Given the description of an element on the screen output the (x, y) to click on. 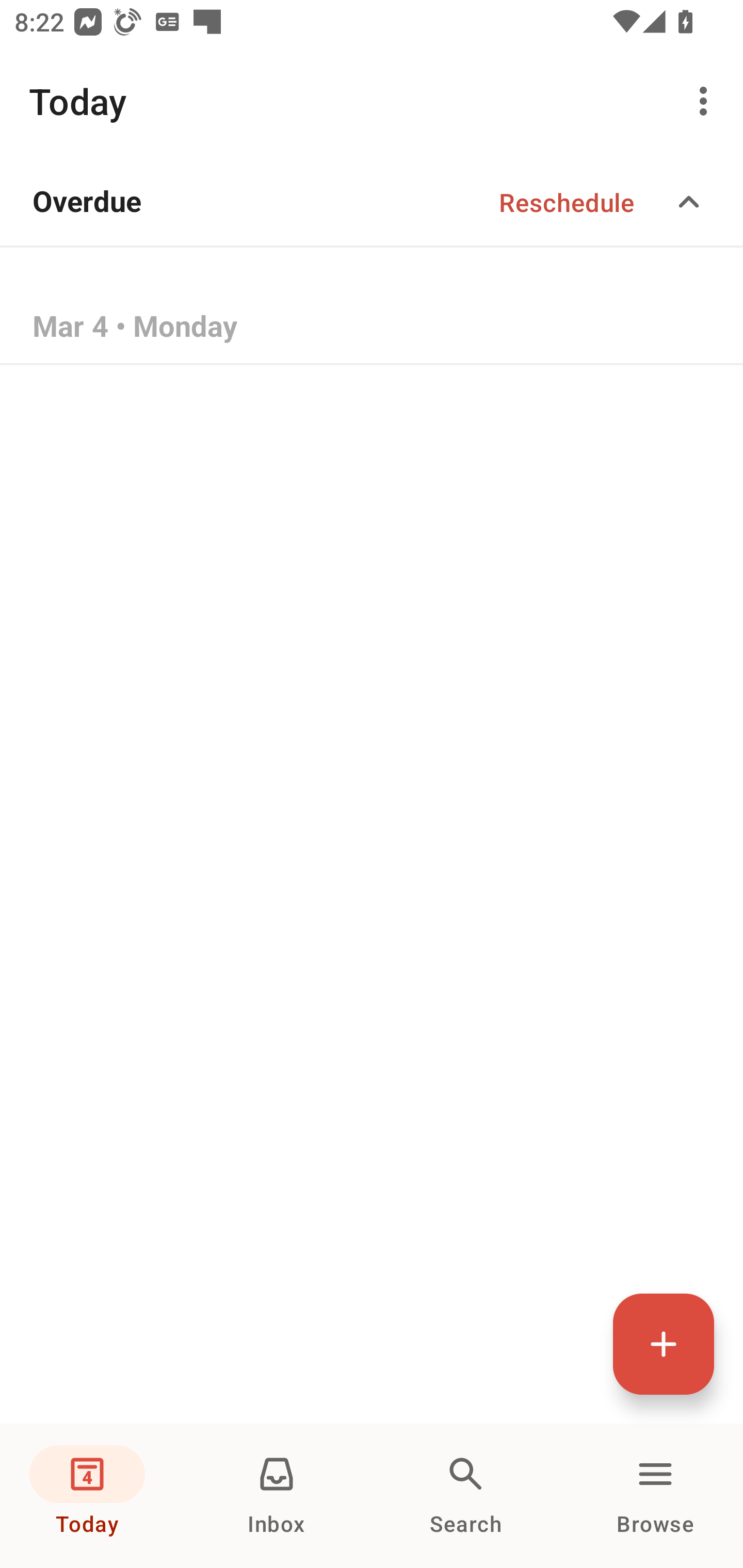
Today More options (371, 100)
More options (706, 101)
Overdue Reschedule Expand/collapse (371, 202)
Reschedule (566, 202)
Mar 4 • Monday (371, 327)
Quick add (663, 1343)
Inbox (276, 1495)
Search (465, 1495)
Browse (655, 1495)
